Given the description of an element on the screen output the (x, y) to click on. 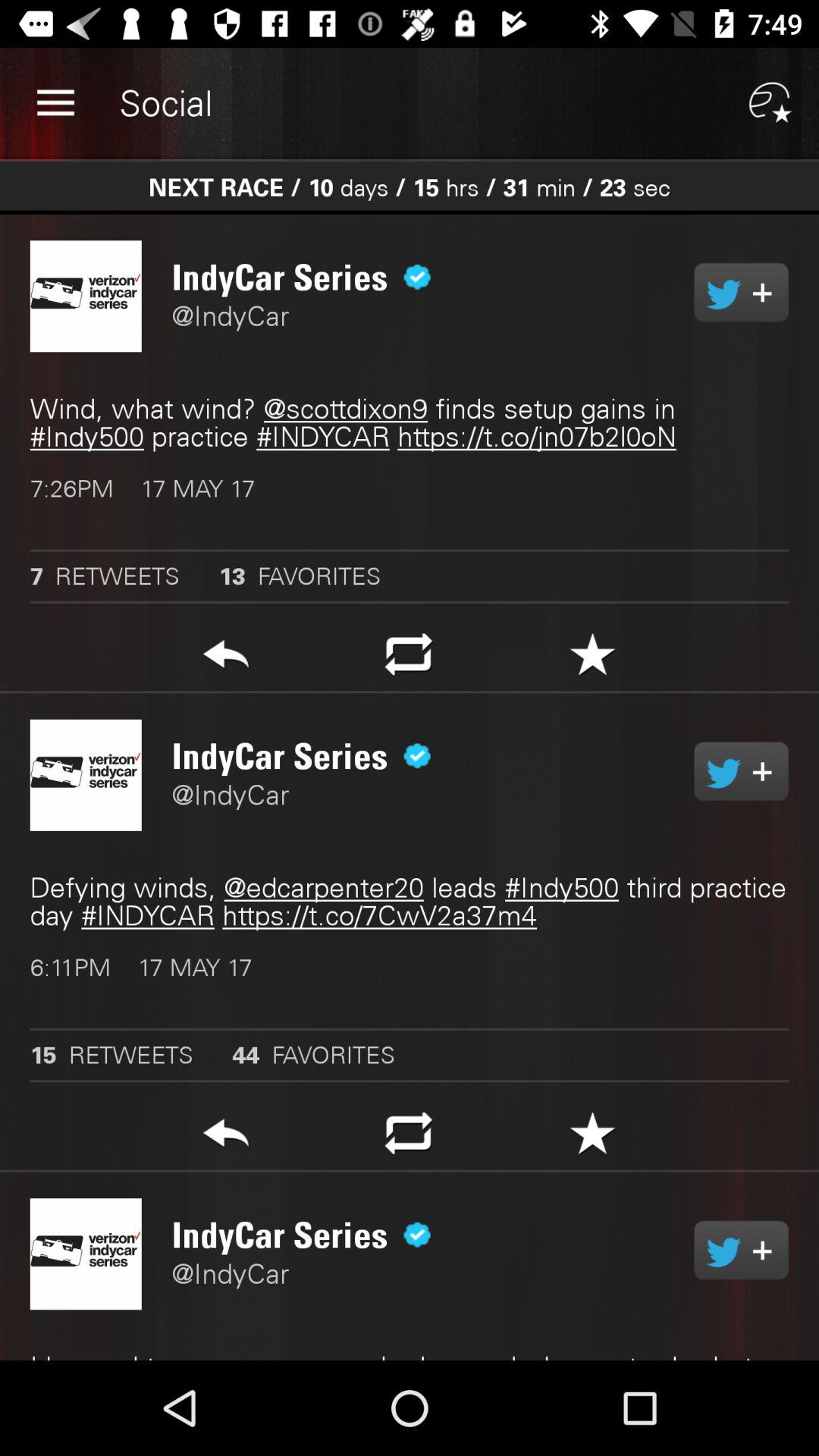
press the item next to the social app (55, 103)
